Given the description of an element on the screen output the (x, y) to click on. 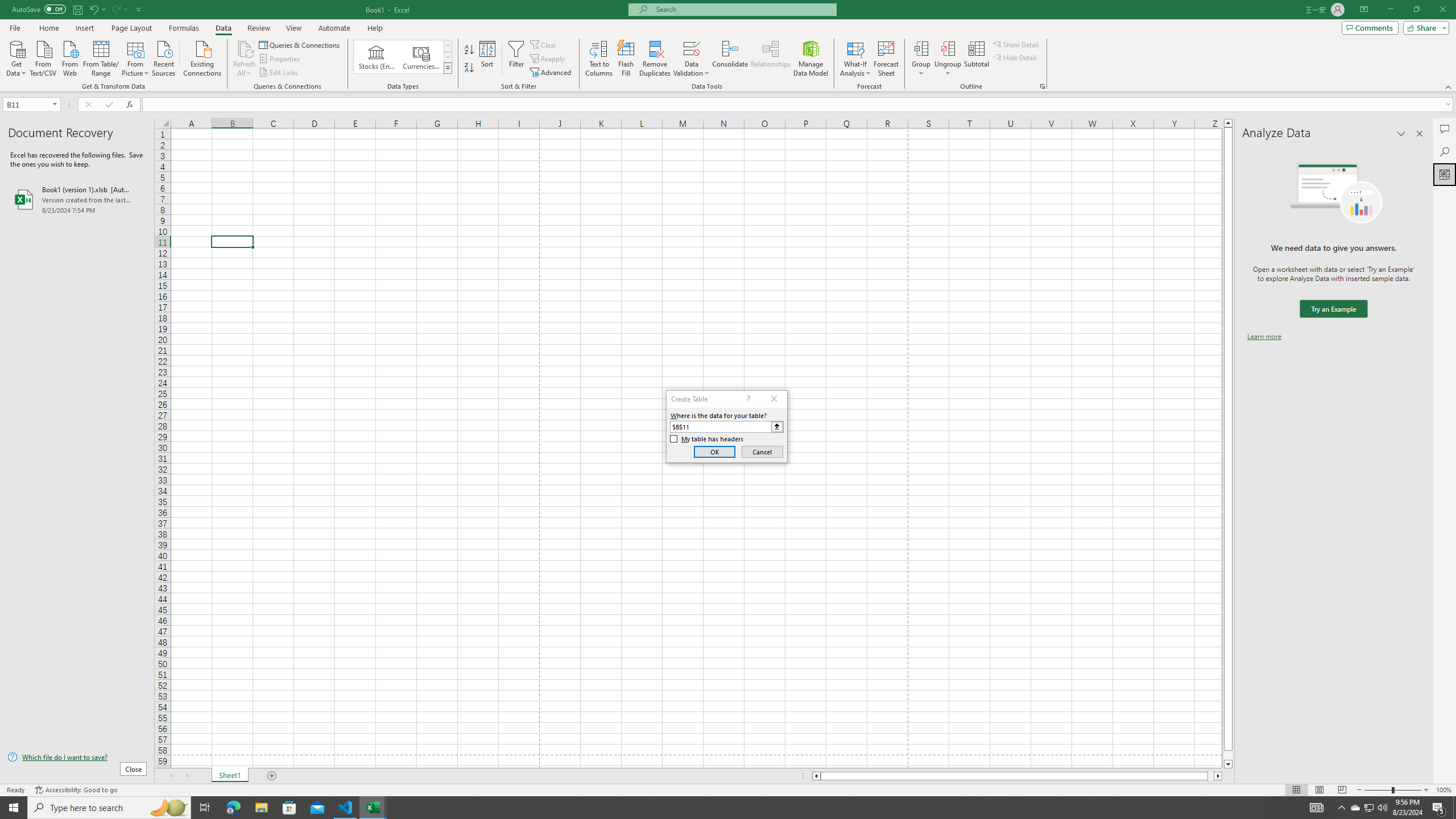
Text to Columns... (598, 58)
Flash Fill (625, 58)
Group and Outline Settings (1042, 85)
